Given the description of an element on the screen output the (x, y) to click on. 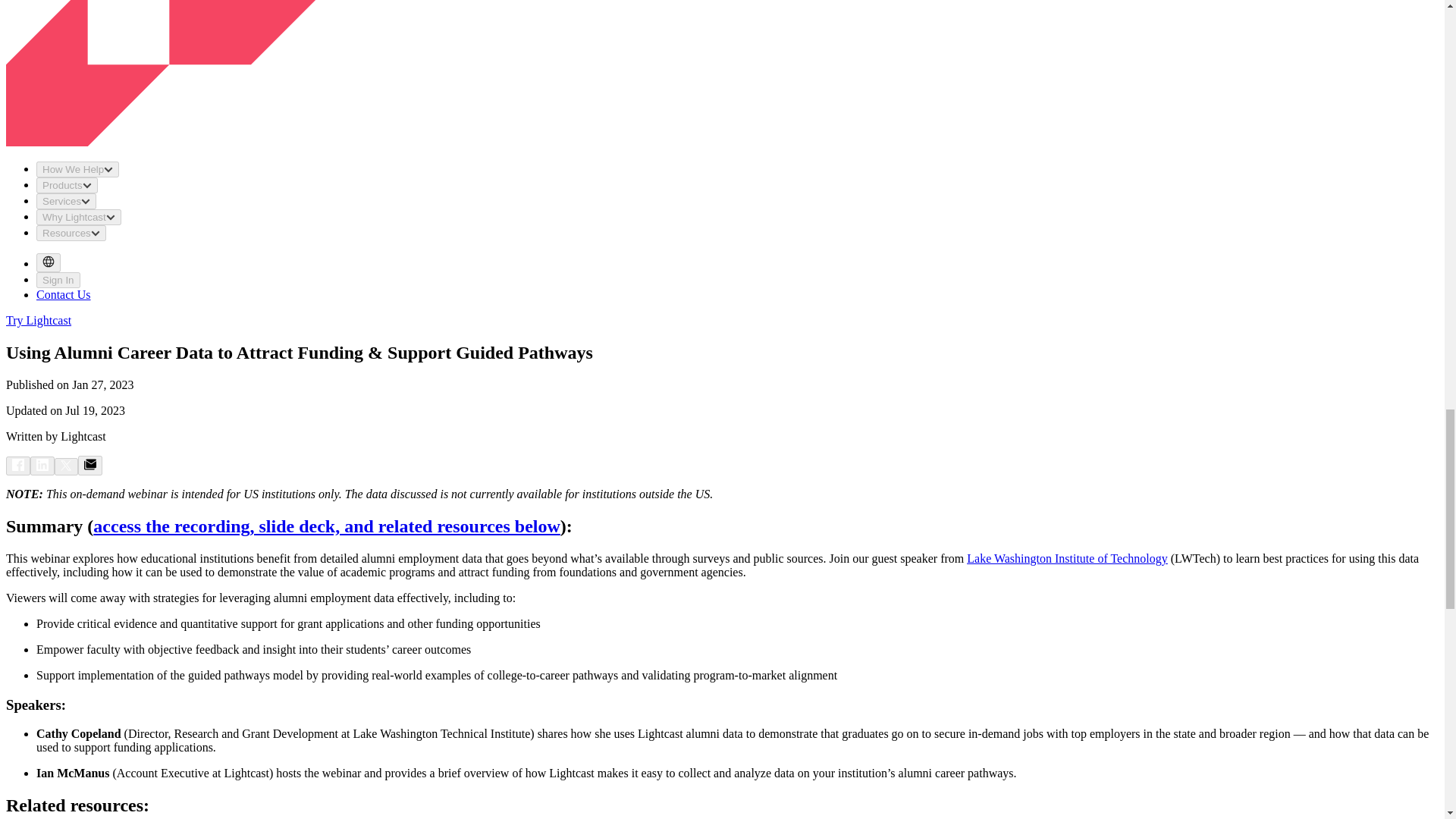
Resources (71, 232)
Sign In (58, 279)
Lake Washington Institute of Technology (1066, 558)
Try Lightcast (38, 319)
Services (66, 201)
Contact Us (63, 294)
How We Help (77, 169)
Products (66, 185)
Why Lightcast (78, 217)
